Given the description of an element on the screen output the (x, y) to click on. 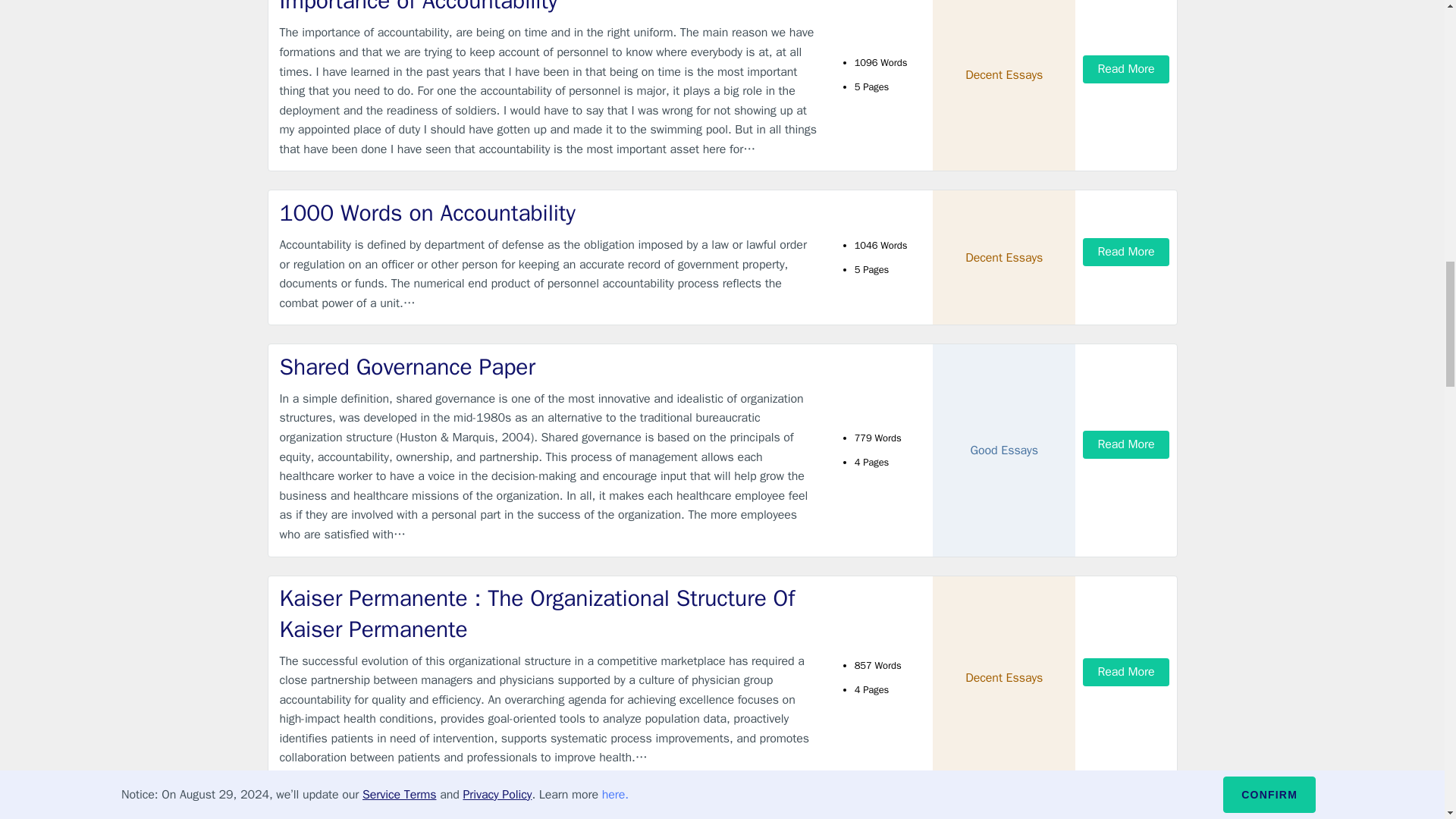
Importance of Accountability (548, 8)
Read More (1126, 69)
Read More (1126, 672)
1000 Words on Accountability (548, 213)
Read More (1126, 444)
Shared Governance Paper (548, 367)
Read More (1126, 252)
Essay about The Importance of Accountability (548, 812)
